Given the description of an element on the screen output the (x, y) to click on. 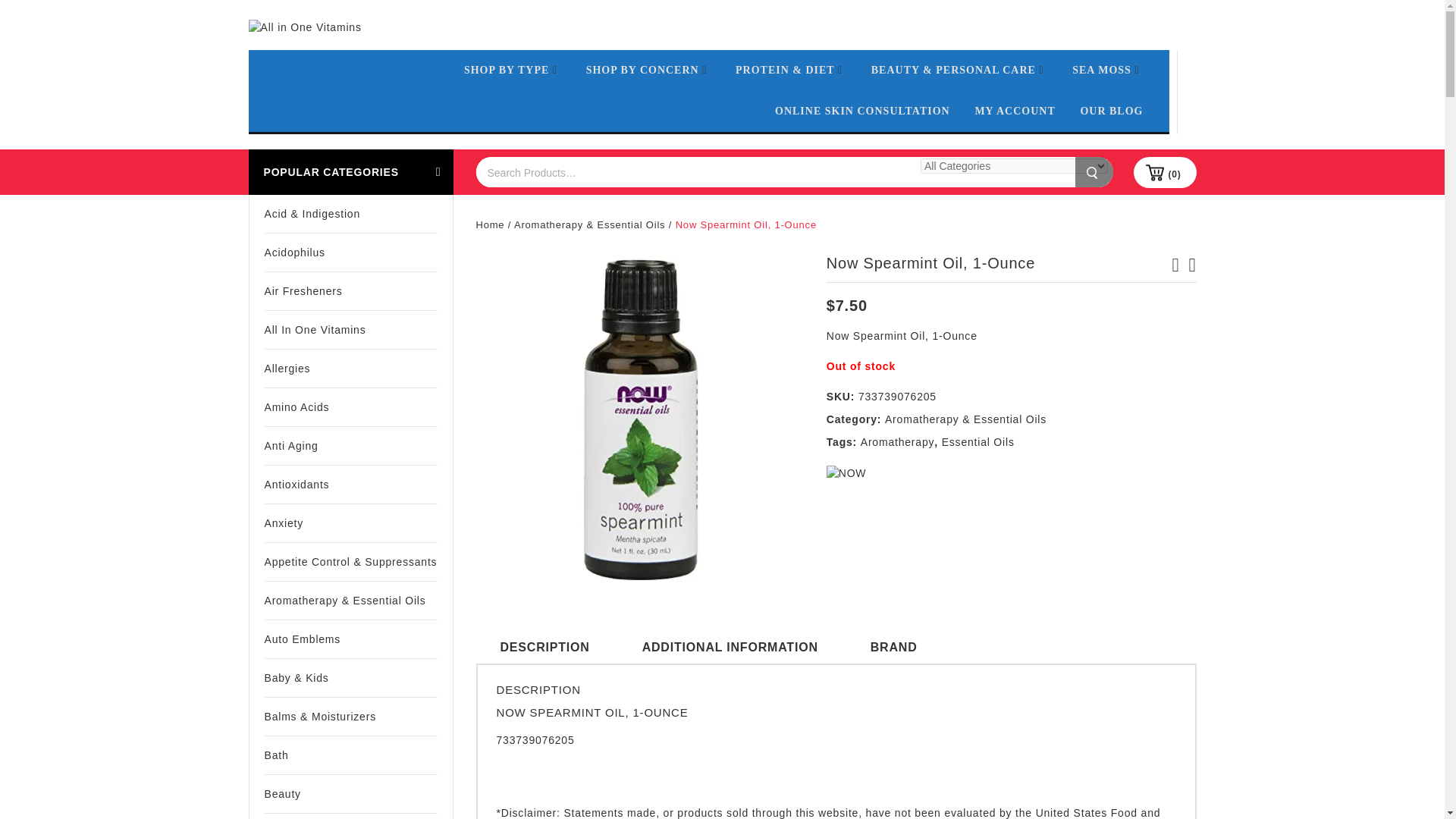
NOW (846, 471)
Search (1094, 172)
All in One Vitamins (304, 26)
View your shopping cart (1173, 173)
Search for: (695, 172)
SHOP BY CONCERN (648, 69)
SHOP BY TYPE (512, 69)
Now Spearmint Oil (639, 419)
View your shopping cart (1164, 172)
